Given the description of an element on the screen output the (x, y) to click on. 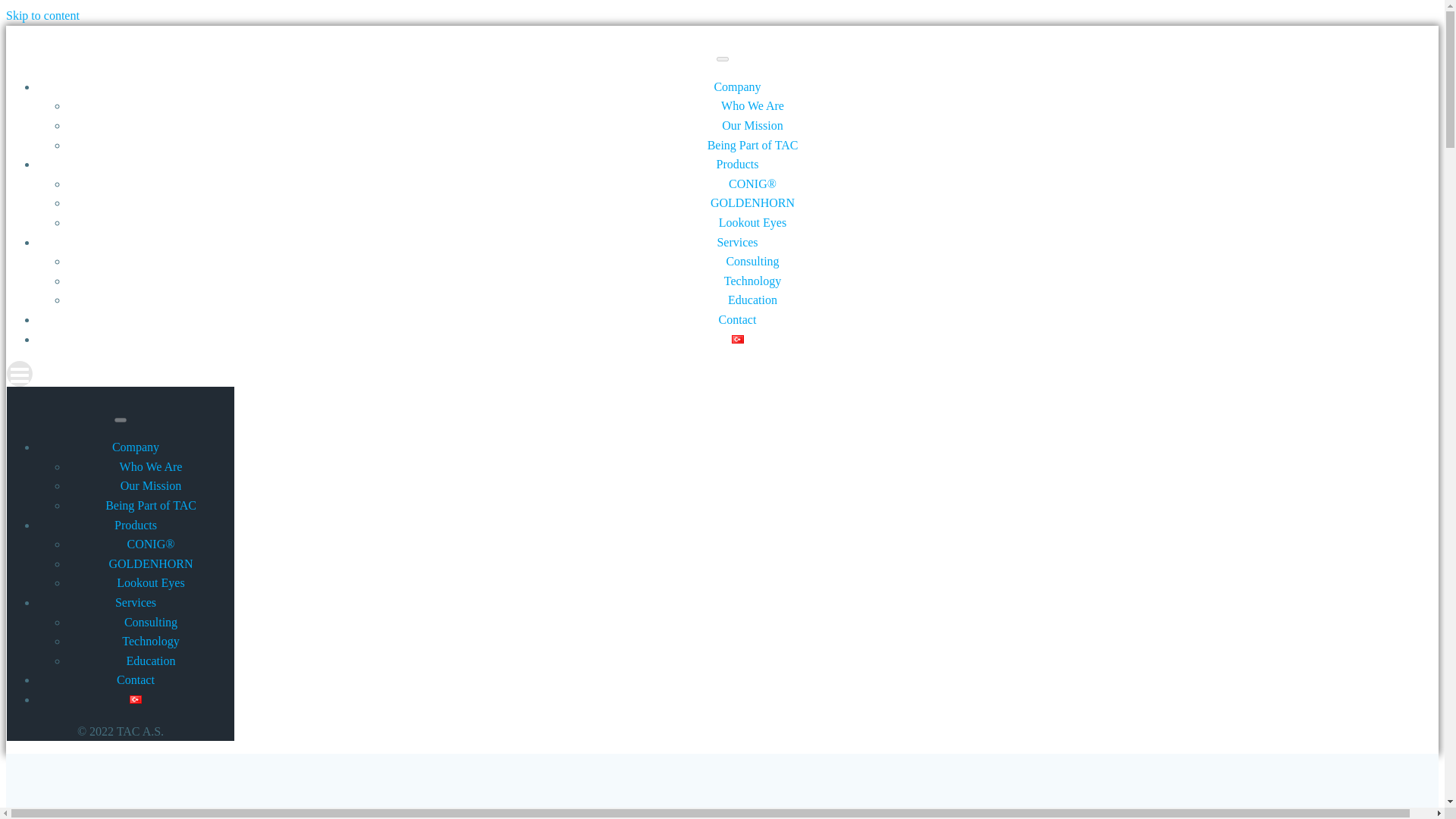
Contact (738, 318)
Skip to content (42, 15)
GOLDENHORN (149, 563)
Our Mission (752, 124)
Company (135, 446)
Services (736, 241)
Products (136, 524)
Lookout Eyes (150, 582)
Education (752, 299)
Who We Are (752, 105)
